Given the description of an element on the screen output the (x, y) to click on. 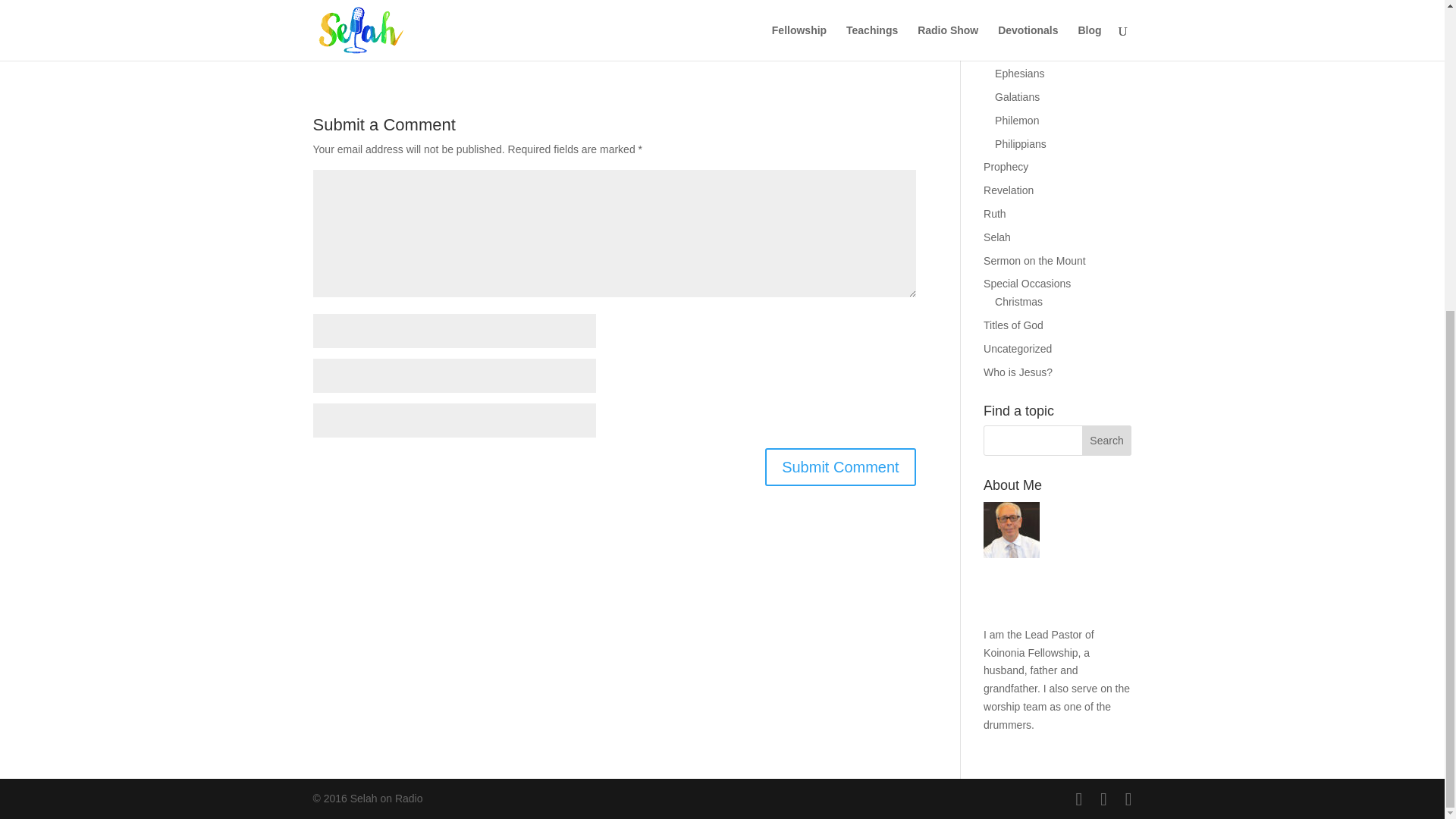
Philemon (1016, 120)
Submit Comment (840, 466)
Galatians (1016, 96)
Philippians (1020, 143)
Ephesians (1018, 73)
Colossians (1020, 50)
Prison Epistles (1019, 32)
Prayer (999, 9)
Search (1106, 440)
Submit Comment (840, 466)
Prophecy (1005, 166)
